Given the description of an element on the screen output the (x, y) to click on. 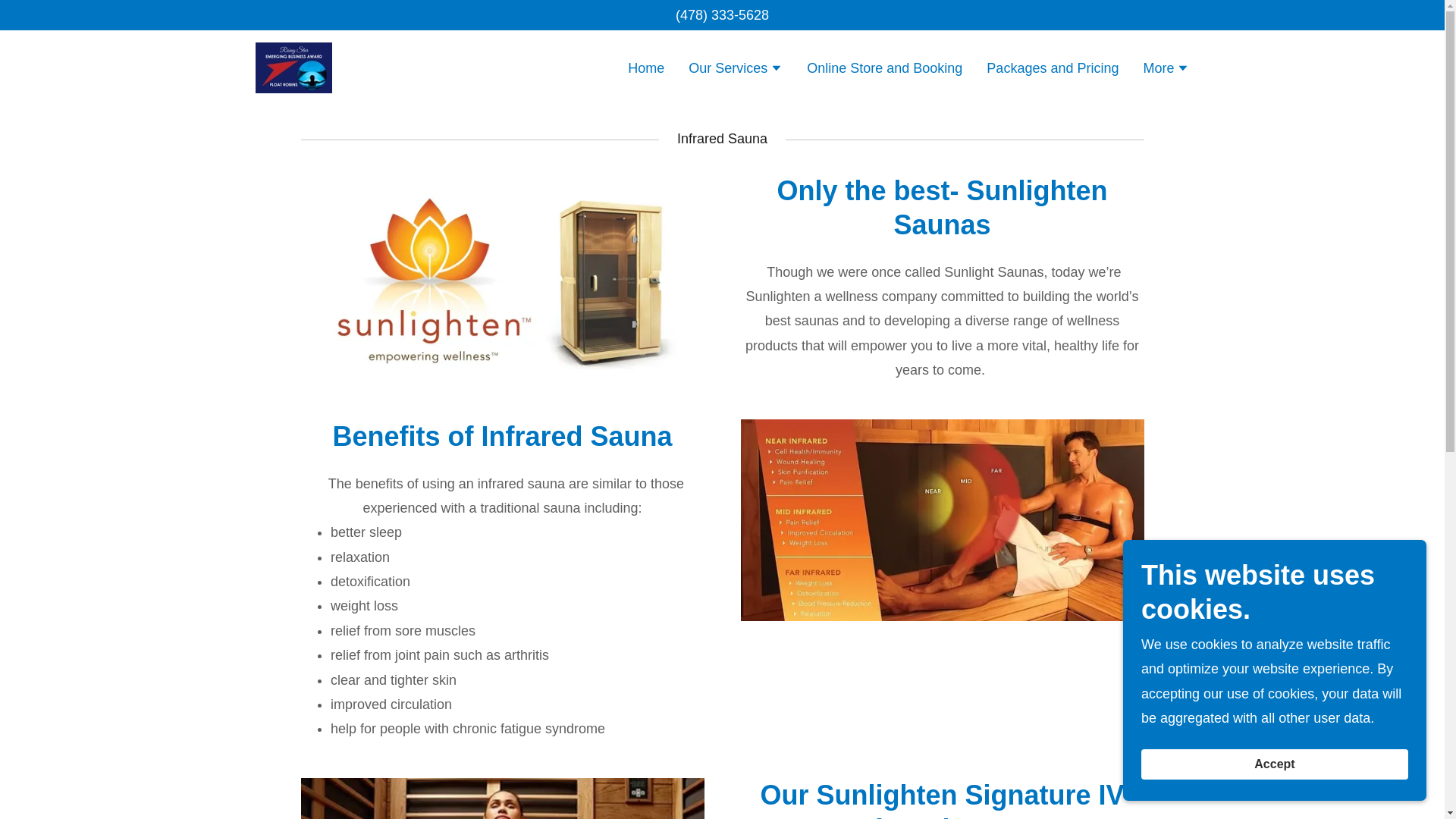
Home (645, 67)
More (1165, 69)
Float Robins (292, 67)
Online Store and Booking (884, 67)
Our Services (735, 69)
Packages and Pricing (1051, 67)
